Given the description of an element on the screen output the (x, y) to click on. 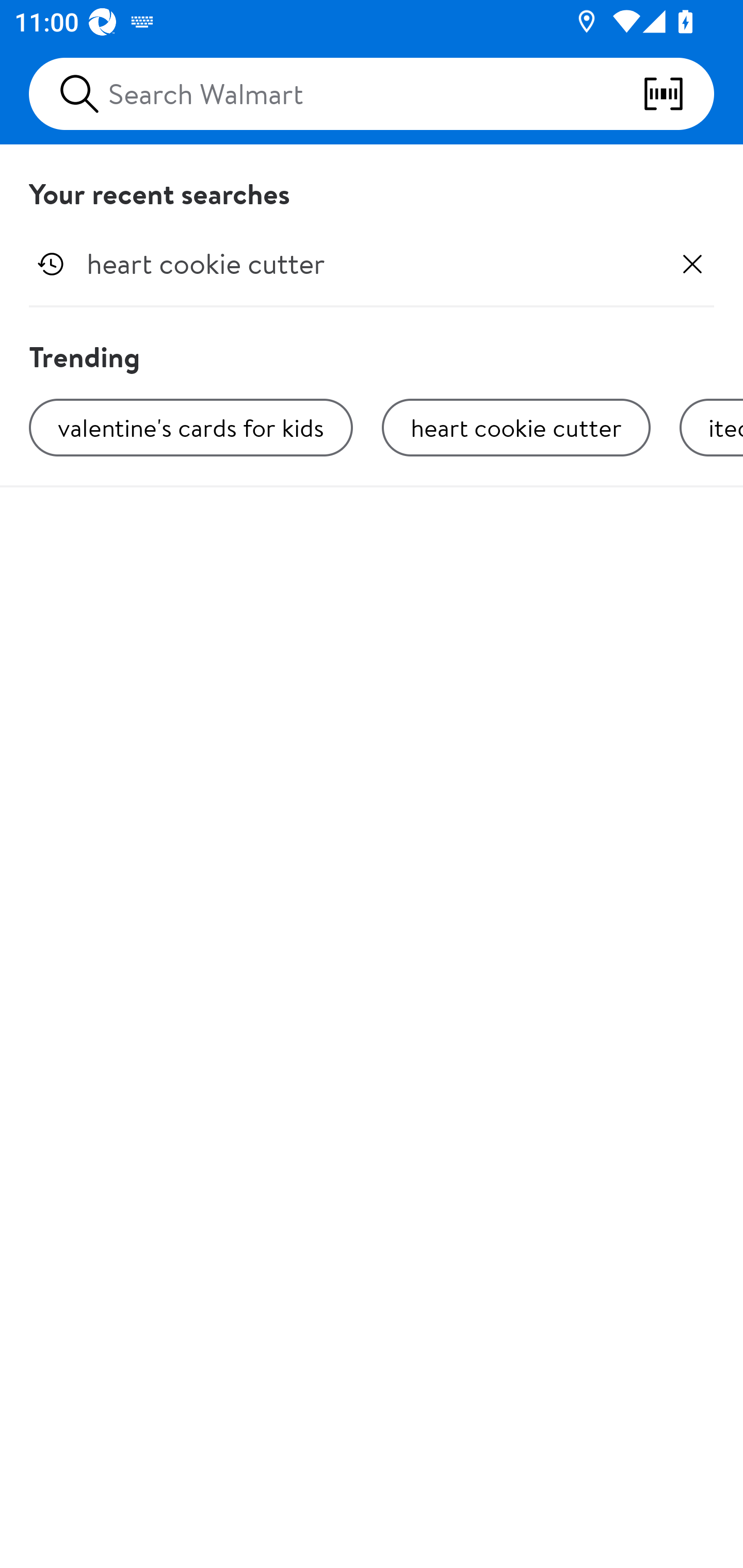
Search Walmart scan barcodes qr codes and more (371, 94)
scan barcodes qr codes and more (677, 94)
Remove recent search for heart cookie cutter (692, 264)
